Given the description of an element on the screen output the (x, y) to click on. 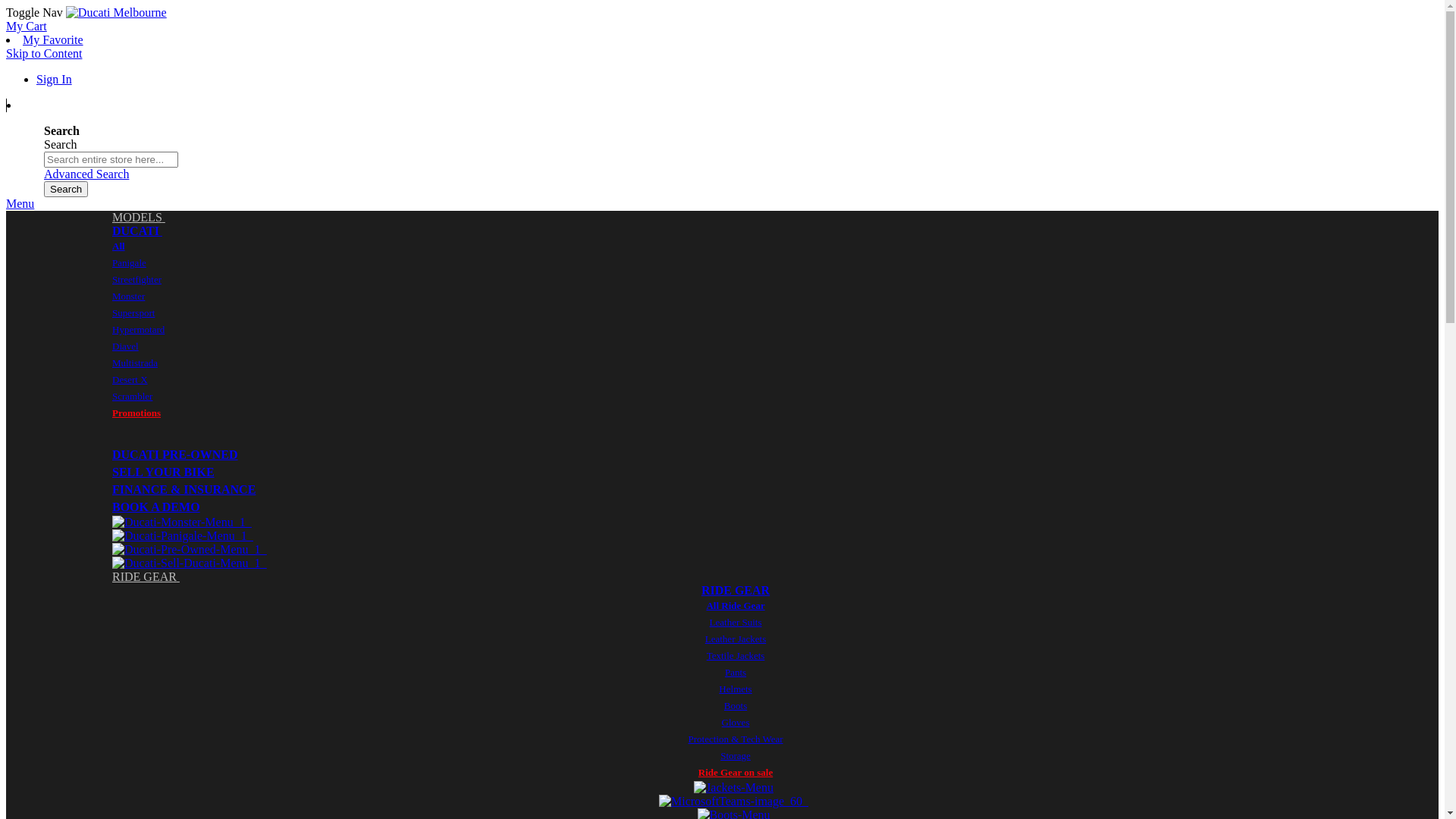
Gloves Element type: text (735, 722)
Pants Element type: text (735, 671)
Promotions Element type: text (136, 412)
Skip to Content Element type: text (43, 53)
Scrambler Element type: text (132, 395)
Desert X Element type: text (129, 379)
MODELS Element type: text (138, 216)
Ducati Melbourne  Element type: hover (115, 12)
Diavel Element type: text (125, 345)
Multistrada Element type: text (134, 362)
Supersport Element type: text (133, 312)
RIDE GEAR Element type: text (145, 576)
FINANCE & INSURANCE Element type: text (183, 489)
BOOK A DEMO Element type: text (156, 506)
All Element type: text (118, 245)
Ride Gear on sale Element type: text (735, 772)
Monster Element type: text (128, 295)
SELL YOUR BIKE Element type: text (163, 471)
Protection & Tech Wear Element type: text (735, 738)
Textile Jackets Element type: text (735, 655)
Advanced Search Element type: text (85, 173)
Leather Jackets Element type: text (735, 638)
Sign In Element type: text (54, 78)
All Ride Gear Element type: text (735, 605)
RIDE GEAR Element type: text (735, 589)
Panigale Element type: text (129, 262)
Streetfighter Element type: text (136, 279)
My Cart Element type: text (26, 25)
Storage Element type: text (735, 755)
Search Element type: text (65, 189)
My Favorite Element type: text (52, 39)
Garage Element type: hover (1414, 164)
Boots Element type: text (735, 705)
Ducati Melbourne  Element type: hover (115, 12)
DUCATI PRE-OWNED Element type: text (174, 454)
Hypermotard Element type: text (138, 329)
Helmets Element type: text (734, 688)
Leather Suits Element type: text (735, 621)
Menu Element type: text (20, 203)
DUCATI Element type: text (137, 230)
0 Element type: text (725, 105)
